Given the description of an element on the screen output the (x, y) to click on. 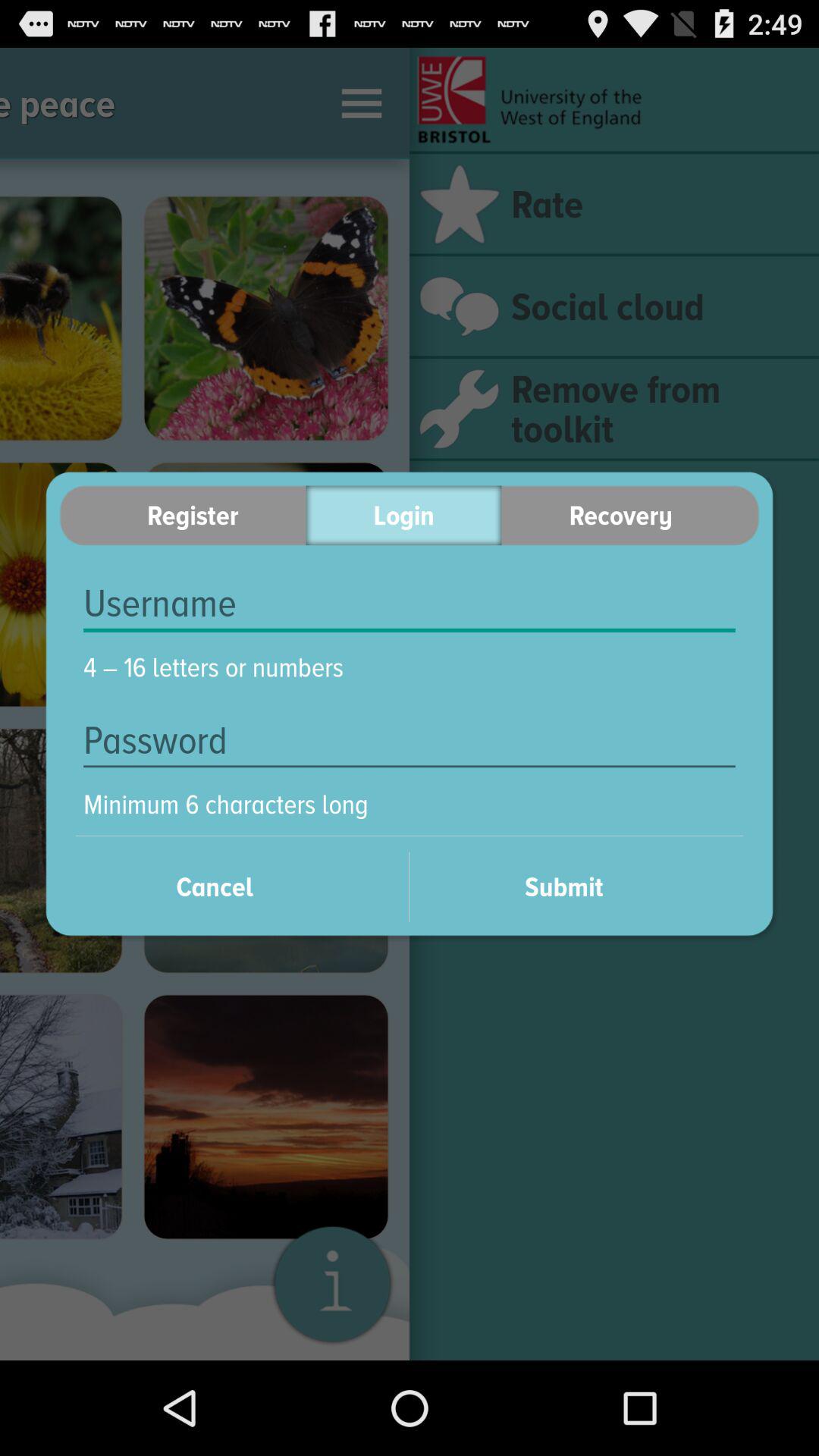
tap icon next to the login item (630, 515)
